Given the description of an element on the screen output the (x, y) to click on. 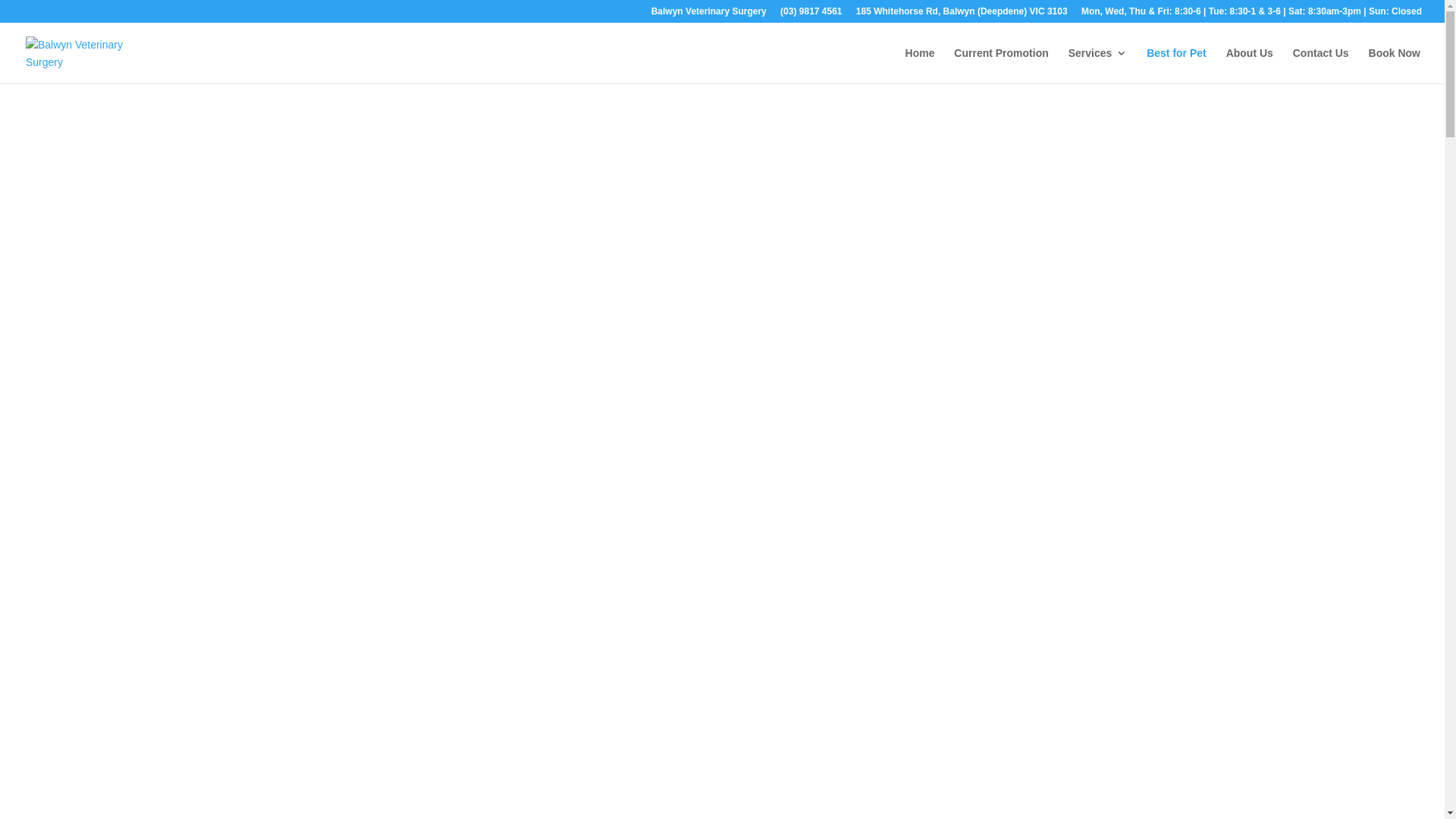
(03) 9817 4561 Element type: text (810, 14)
Best for Pet Element type: text (1176, 65)
Contact Us Element type: text (1320, 65)
Balwyn Veterinary Surgery Element type: text (708, 14)
Current Promotion Element type: text (1000, 65)
Book Now Element type: text (1394, 65)
Services Element type: text (1097, 65)
Home Element type: text (920, 65)
About Us Element type: text (1249, 65)
185 Whitehorse Rd, Balwyn (Deepdene) VIC 3103 Element type: text (961, 14)
